Given the description of an element on the screen output the (x, y) to click on. 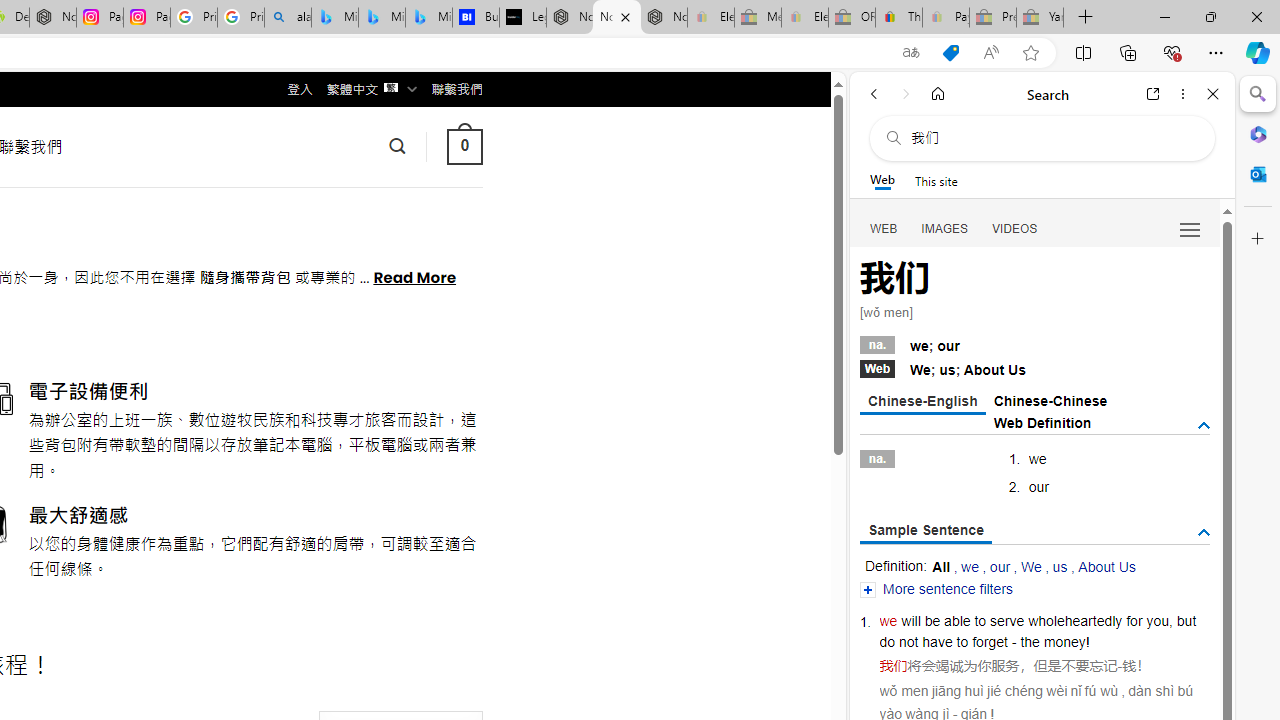
you (1157, 620)
Yard, Garden & Outdoor Living - Sleeping (1040, 17)
Us (1017, 370)
Web scope (882, 180)
money (1064, 642)
us (1059, 566)
